Given the description of an element on the screen output the (x, y) to click on. 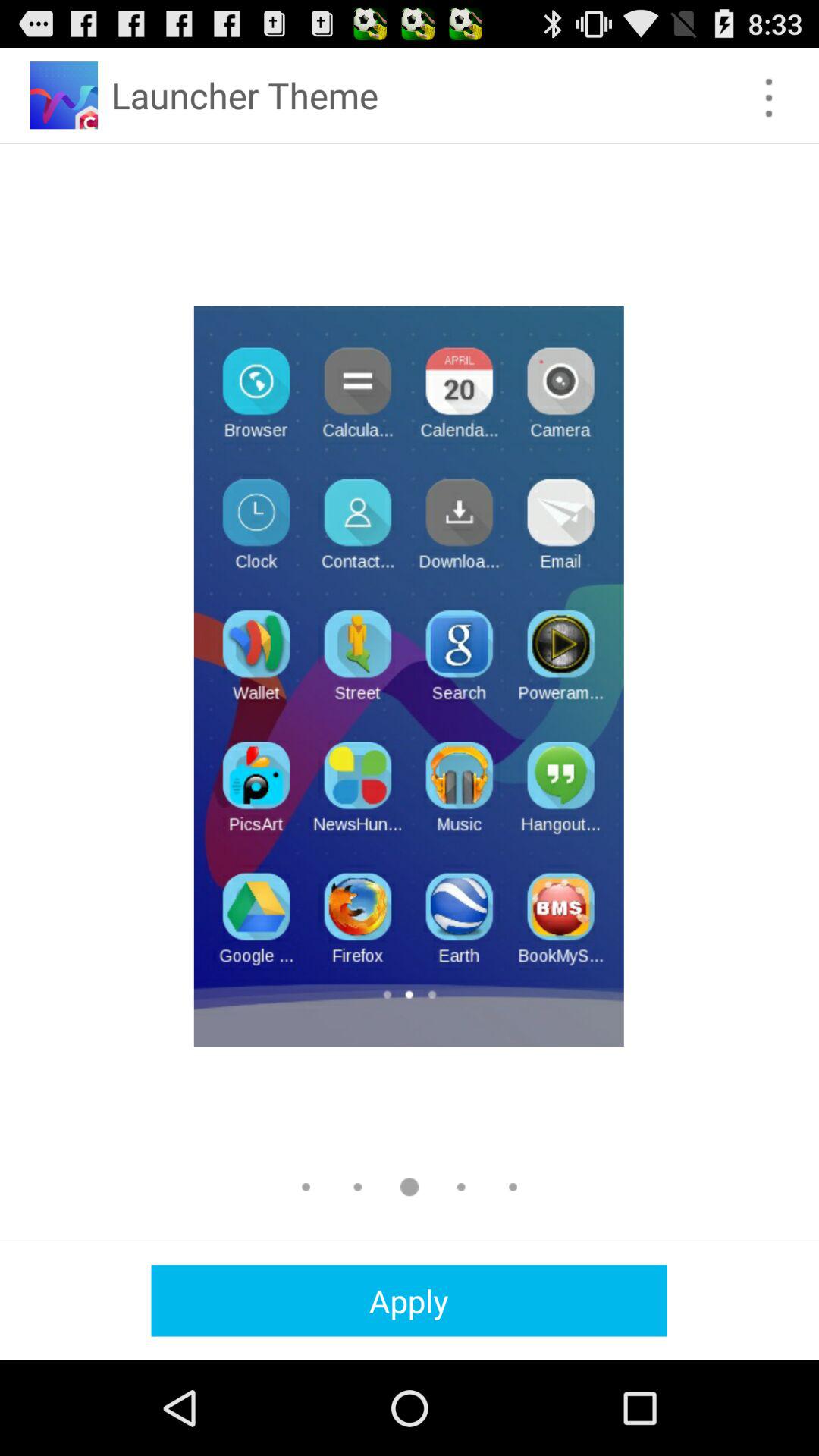
swipe to the apply (409, 1300)
